Given the description of an element on the screen output the (x, y) to click on. 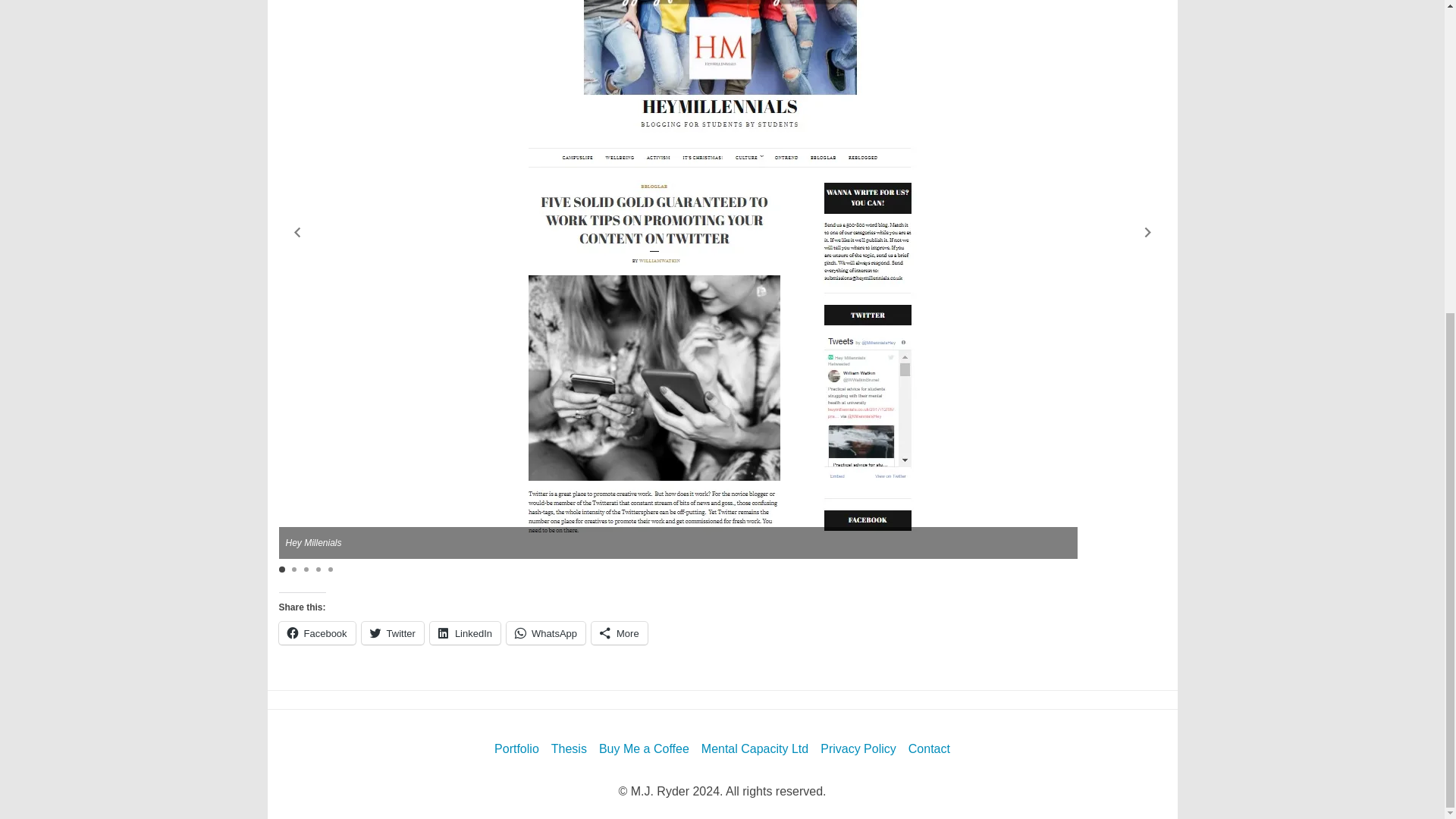
Click to share on LinkedIn (464, 632)
Click to share on Facebook (317, 632)
Click to share on WhatsApp (545, 632)
Click to share on Twitter (392, 632)
